Given the description of an element on the screen output the (x, y) to click on. 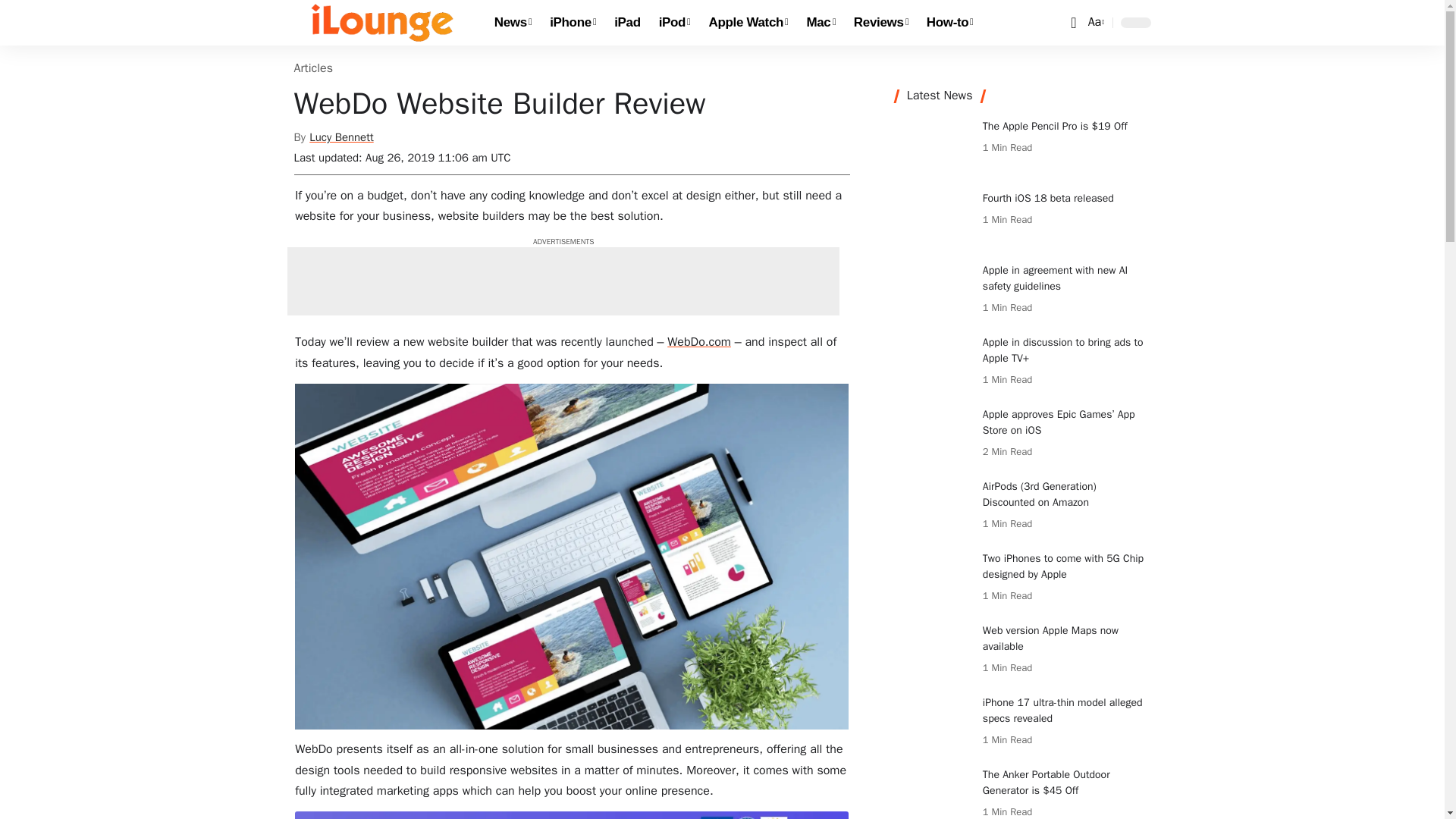
Two iPhones to come with 5G Chip designed by Apple (933, 578)
Fourth iOS 18 beta released (933, 218)
News (512, 22)
Web version Apple Maps now available (1094, 22)
iPad (933, 650)
Apple in agreement with new AI safety guidelines (627, 22)
iPhone (933, 290)
Apple Watch (572, 22)
Mac (748, 22)
iPod (820, 22)
Reviews (674, 22)
iPhone 17 ultra-thin model alleged specs revealed (880, 22)
iLounge (933, 722)
How-to (382, 22)
